Given the description of an element on the screen output the (x, y) to click on. 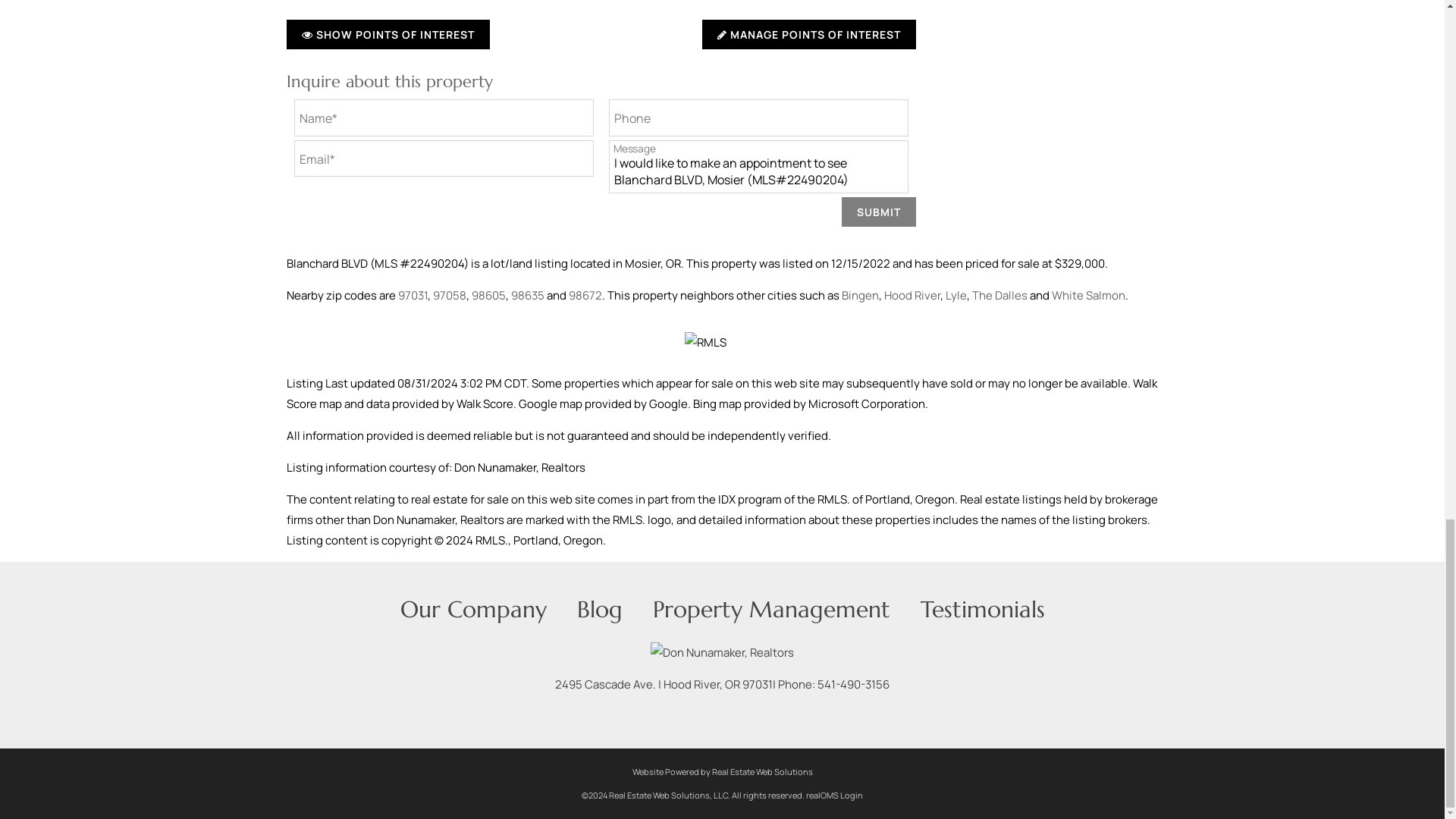
SHOW POINTS OF INTEREST (387, 34)
Our Company (473, 609)
Blog (598, 609)
Property Management (770, 609)
MANAGE POINTS OF INTEREST (808, 34)
Testimonials (982, 609)
